Given the description of an element on the screen output the (x, y) to click on. 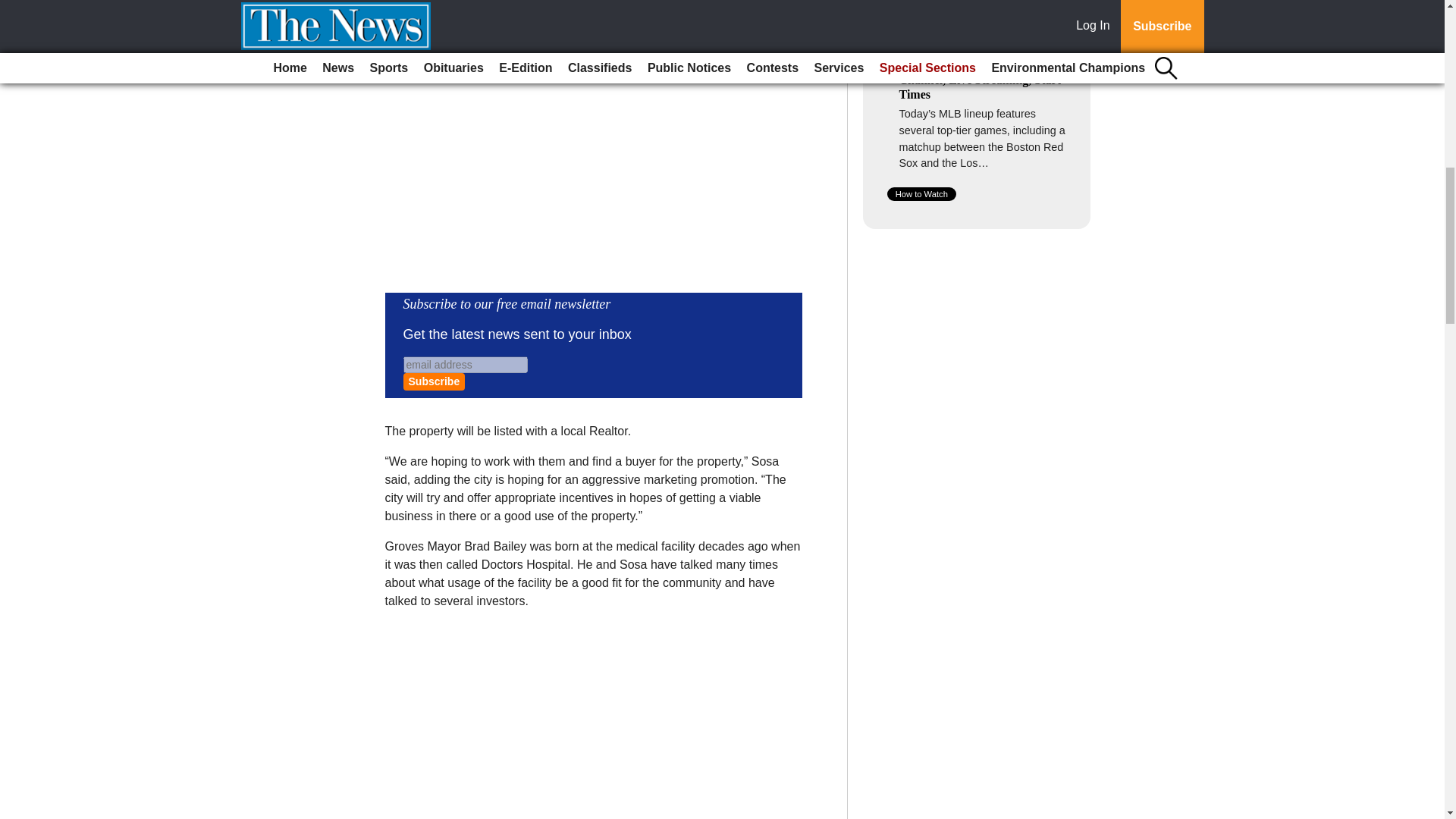
Subscribe (434, 381)
Subscribe (434, 381)
